Given the description of an element on the screen output the (x, y) to click on. 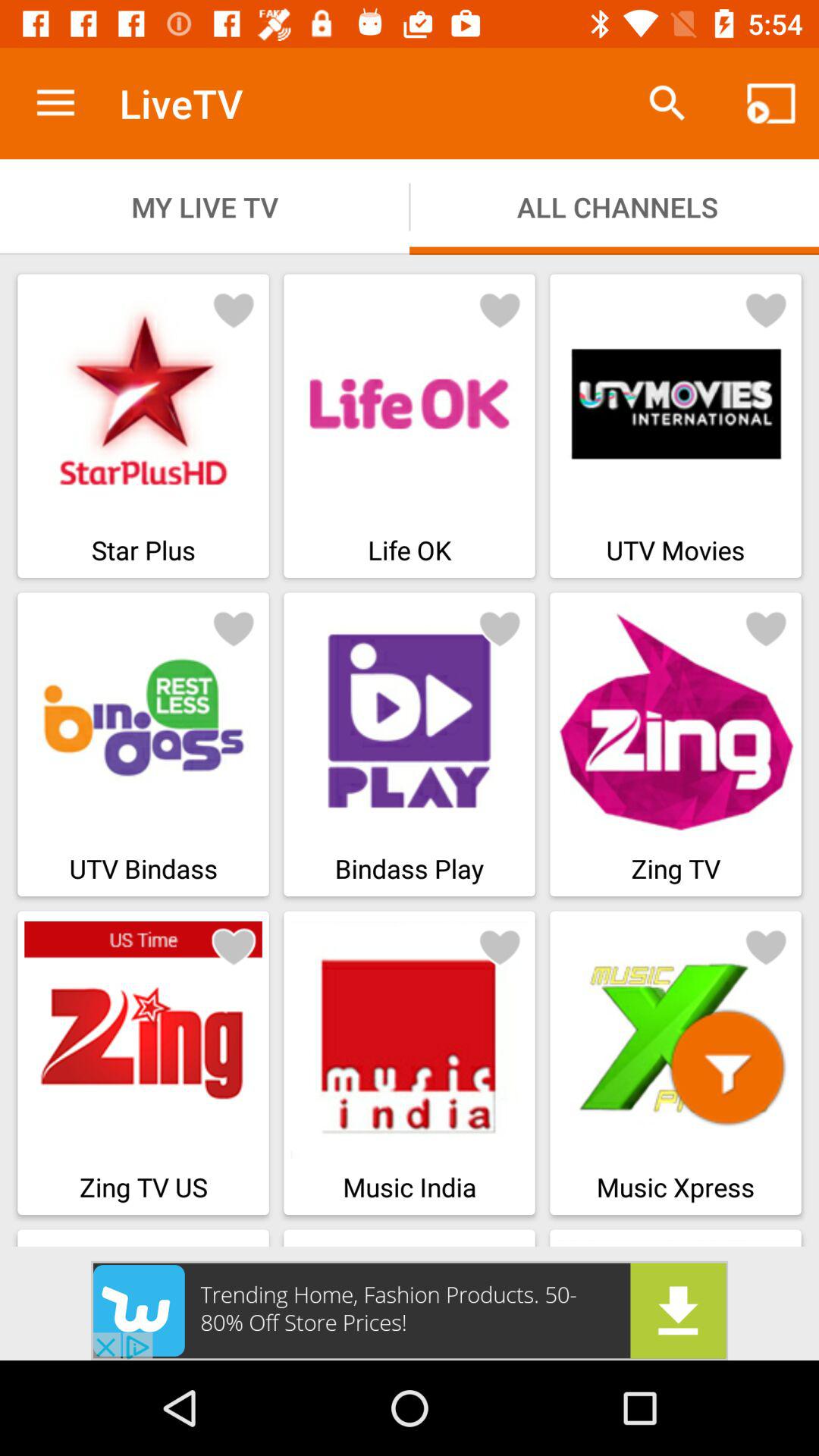
view advertisement (409, 1310)
